Given the description of an element on the screen output the (x, y) to click on. 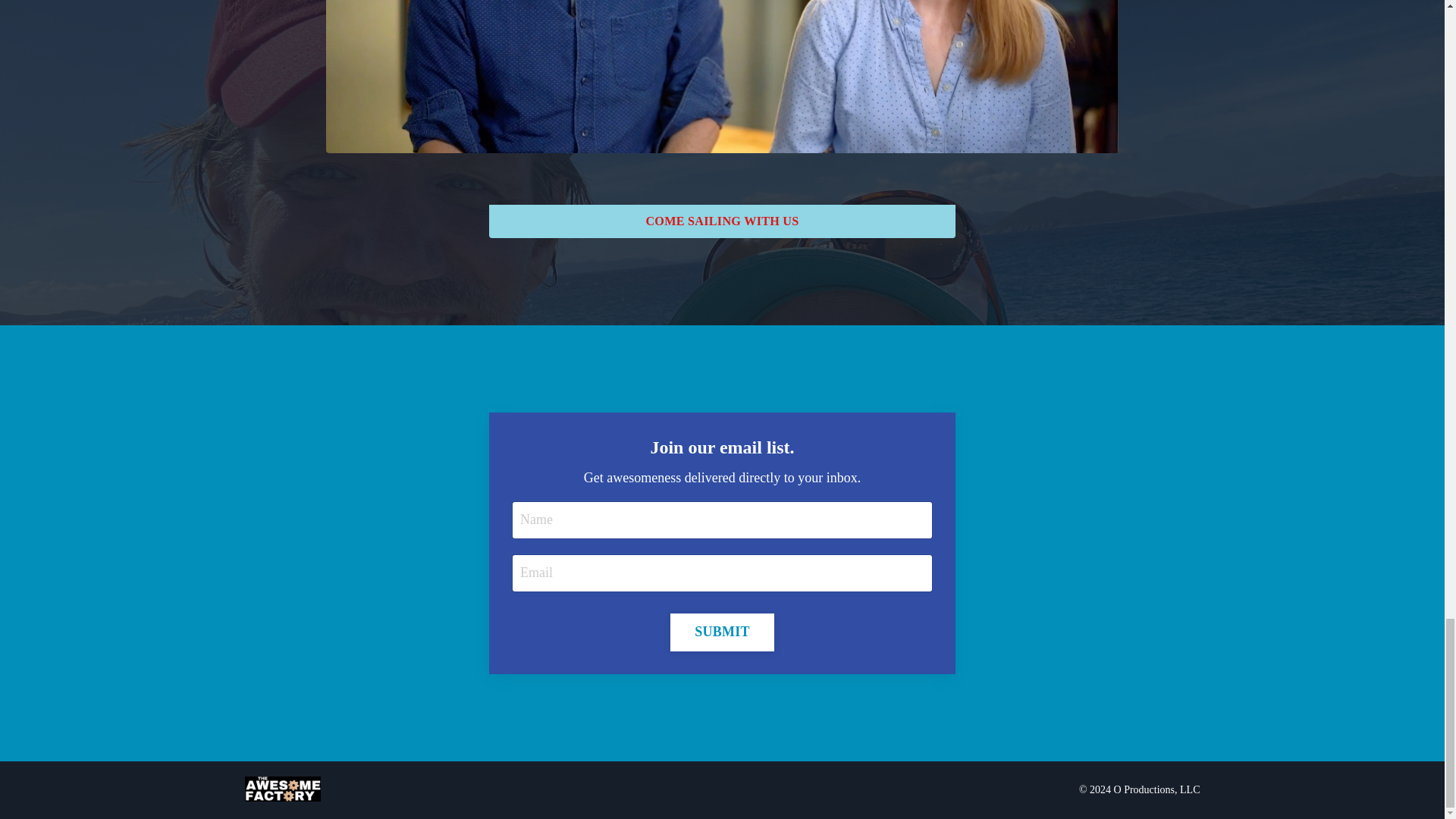
SUBMIT (721, 632)
COME SAILING WITH US (722, 221)
